Given the description of an element on the screen output the (x, y) to click on. 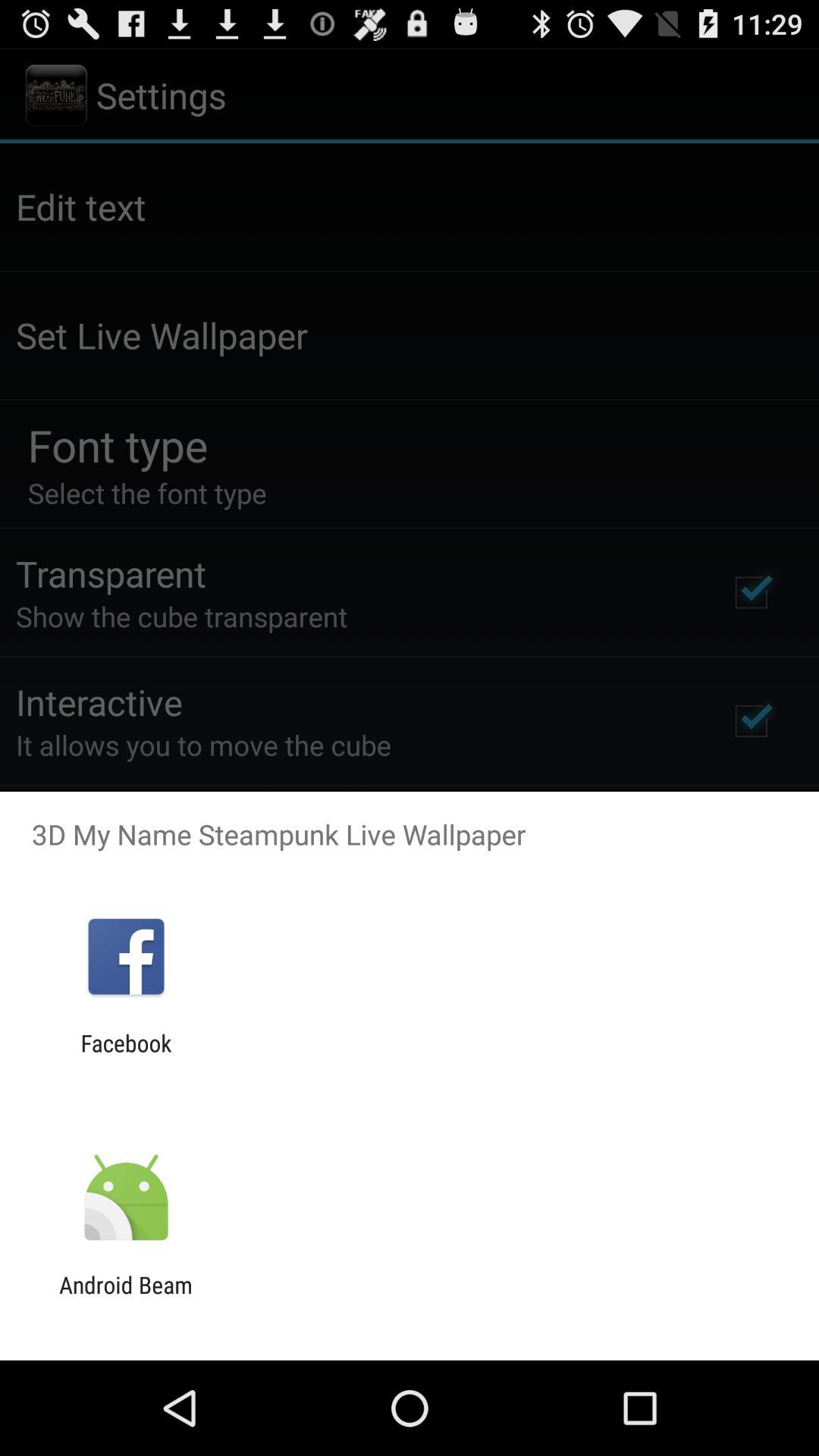
scroll until android beam icon (125, 1298)
